Given the description of an element on the screen output the (x, y) to click on. 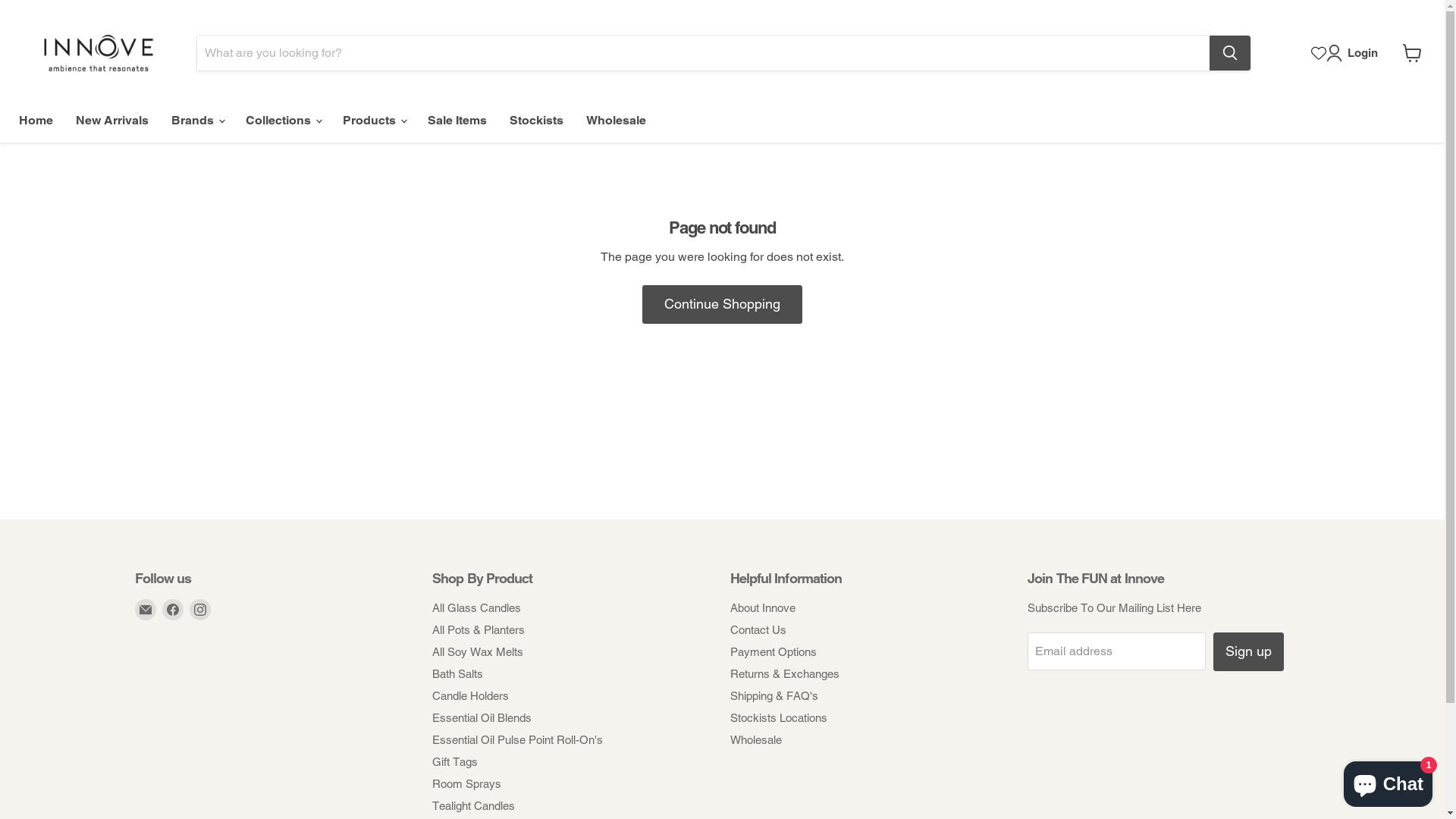
All Soy Wax Melts Element type: text (477, 651)
New Arrivals Element type: text (112, 120)
Continue Shopping Element type: text (722, 304)
All Glass Candles Element type: text (476, 607)
Payment Options Element type: text (772, 651)
Essential Oil Blends Element type: text (481, 717)
Candle Holders Element type: text (470, 695)
Gift Tags Element type: text (454, 761)
Tealight Candles Element type: text (473, 805)
Essential Oil Pulse Point Roll-On's Element type: text (517, 739)
Find us on Facebook Element type: text (172, 609)
Find us on Instagram Element type: text (199, 609)
Login Element type: text (1354, 52)
Contact Us Element type: text (757, 629)
Bath Salts Element type: text (457, 673)
Stockists Locations Element type: text (777, 717)
Shipping & FAQ's Element type: text (773, 695)
Stockists Element type: text (536, 120)
Sign up Element type: text (1248, 651)
View cart Element type: text (1412, 52)
Sale Items Element type: text (457, 120)
Wholesale Element type: text (615, 120)
About Innove Element type: text (761, 607)
All Pots & Planters Element type: text (478, 629)
Returns & Exchanges Element type: text (783, 673)
Home Element type: text (35, 120)
Shopify online store chat Element type: hover (1388, 780)
Email INNOVE Element type: text (145, 609)
Room Sprays Element type: text (466, 783)
Wholesale Element type: text (755, 739)
